Given the description of an element on the screen output the (x, y) to click on. 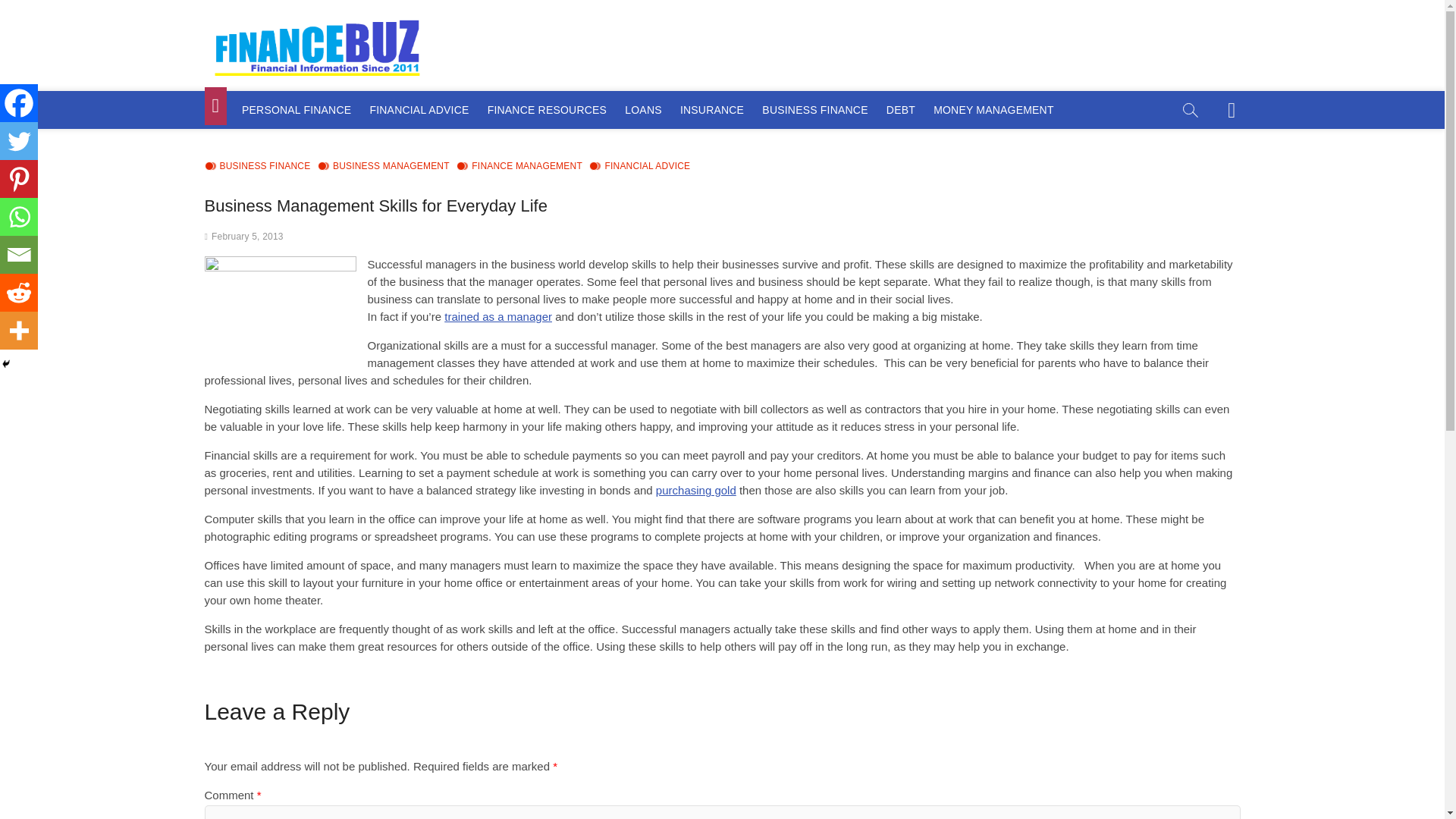
INSURANCE (711, 109)
DEBT (901, 109)
PERSONAL FINANCE (296, 109)
BUSINESS MANAGEMENT (383, 166)
LOANS (642, 109)
February 5, 2013 (247, 235)
FINANCIAL ADVICE (418, 109)
trained as a manager (497, 316)
MONEY MANAGEMENT (993, 109)
Email (18, 254)
